Given the description of an element on the screen output the (x, y) to click on. 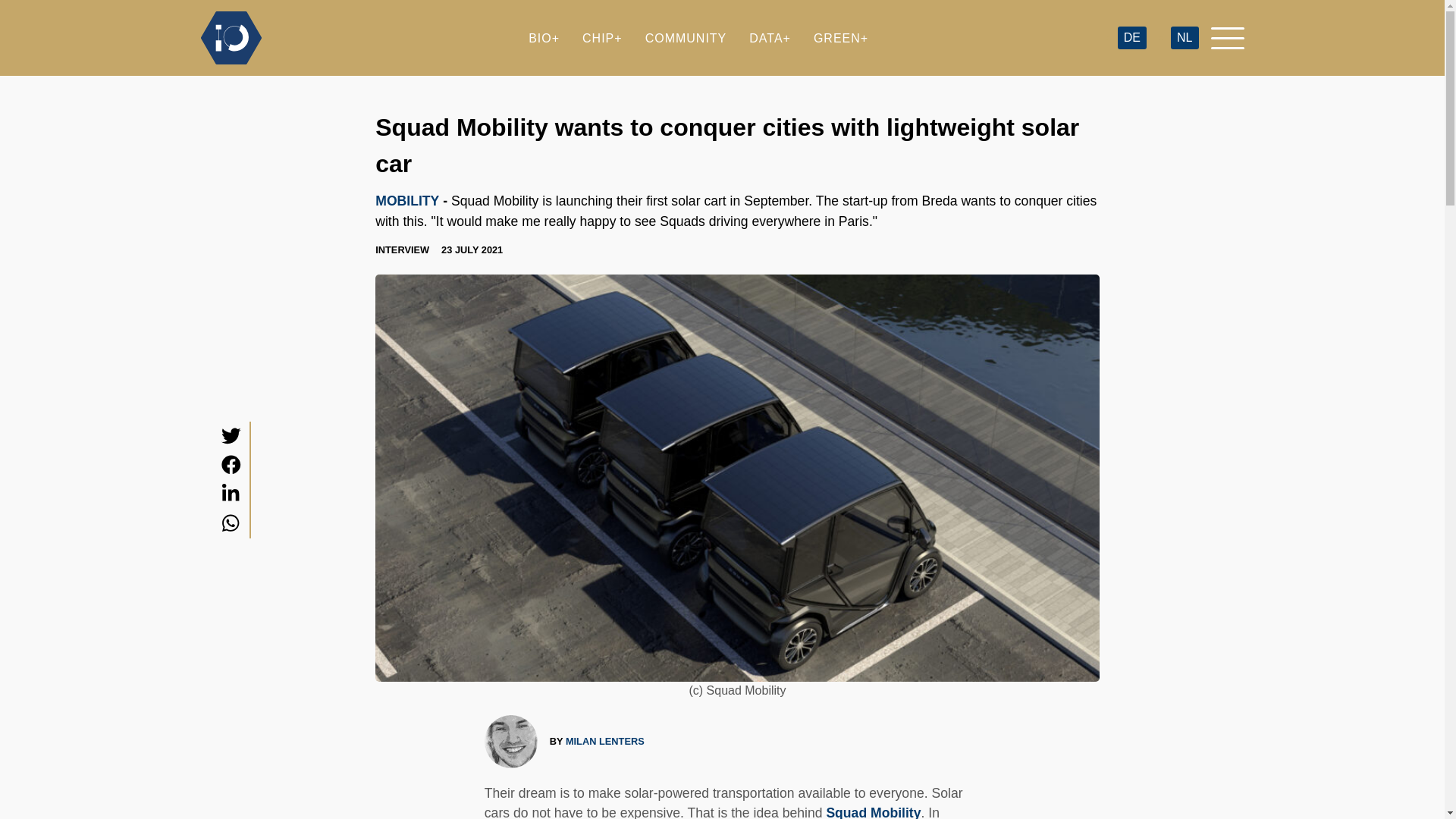
Share on Facebook (231, 464)
NL (1184, 37)
COMMUNITY (685, 38)
DE (1132, 37)
Squad Mobility (872, 811)
Tweet this (231, 435)
MILAN LENTERS (605, 740)
MOBILITY (407, 200)
